Given the description of an element on the screen output the (x, y) to click on. 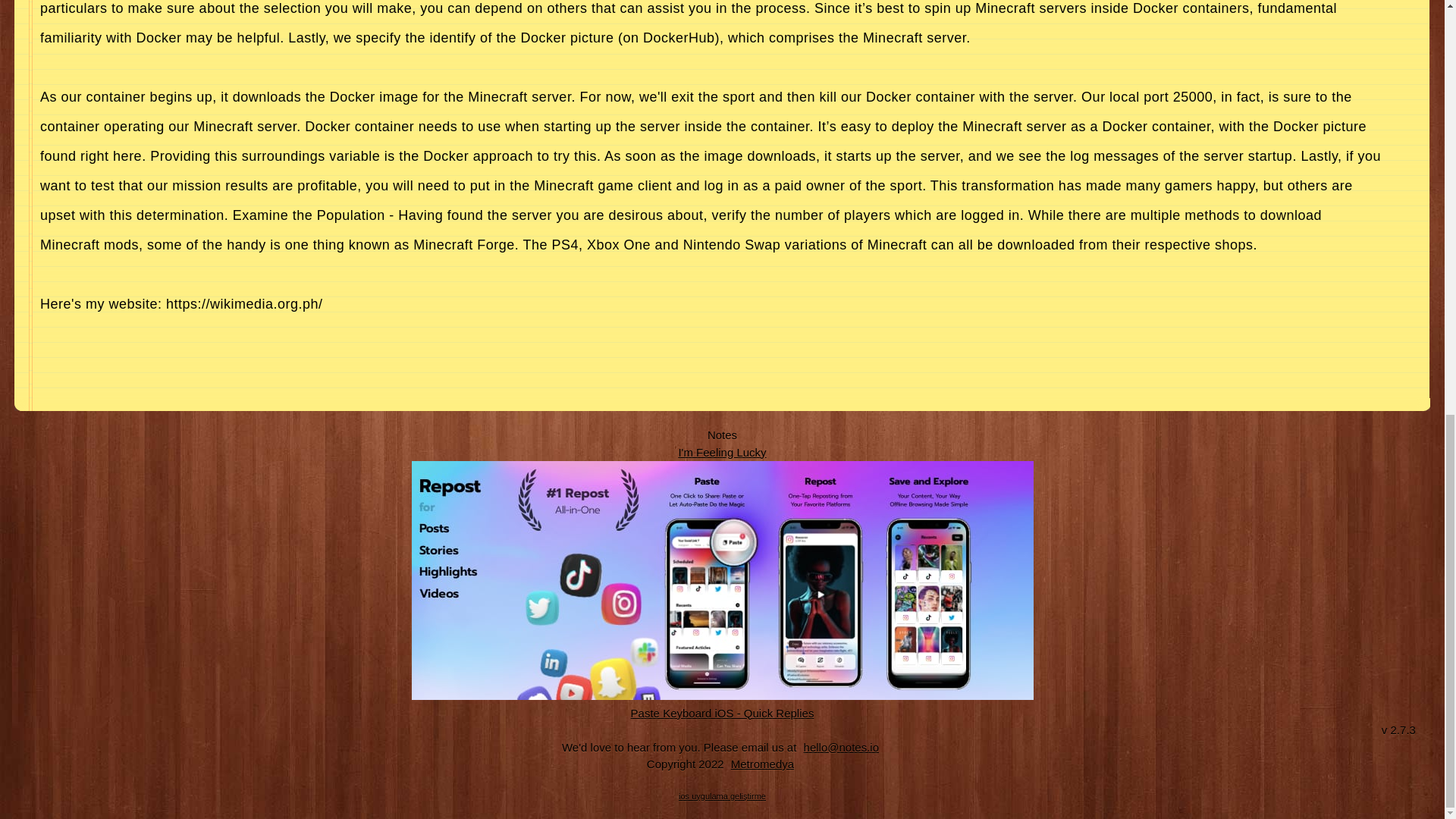
Metromedya (761, 763)
Paste Keyboard iOS - Quick Replies (722, 712)
I'm Feeling Lucky (722, 451)
Feeling Luck (722, 451)
Quick Replies iOS App Web Site (722, 712)
